Given the description of an element on the screen output the (x, y) to click on. 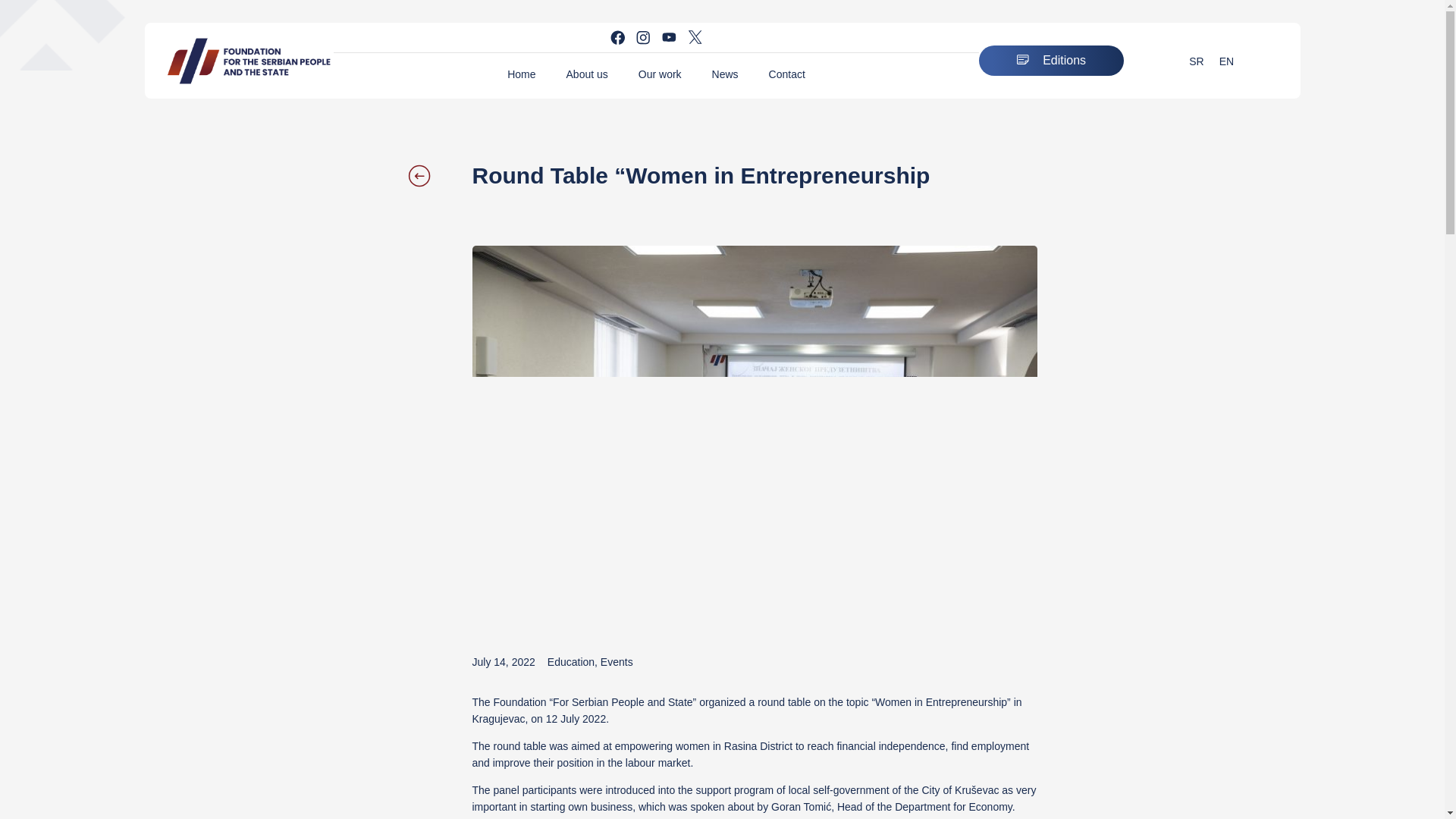
About us (587, 73)
Editions (1051, 60)
EN (1226, 61)
Our work (660, 73)
Home (521, 73)
Contact (787, 73)
SR (1195, 61)
News (725, 73)
